Given the description of an element on the screen output the (x, y) to click on. 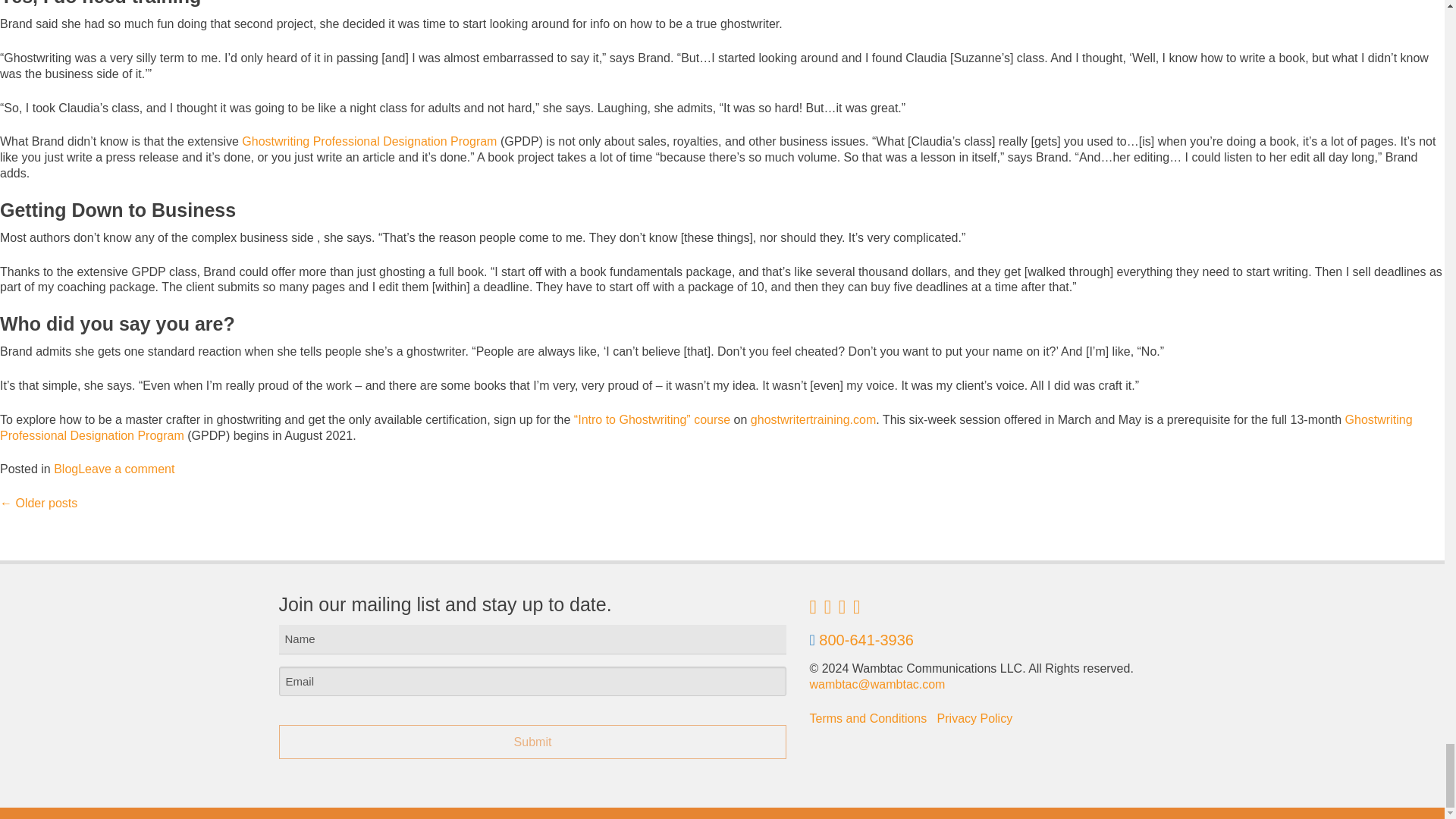
Submit (533, 741)
